Given the description of an element on the screen output the (x, y) to click on. 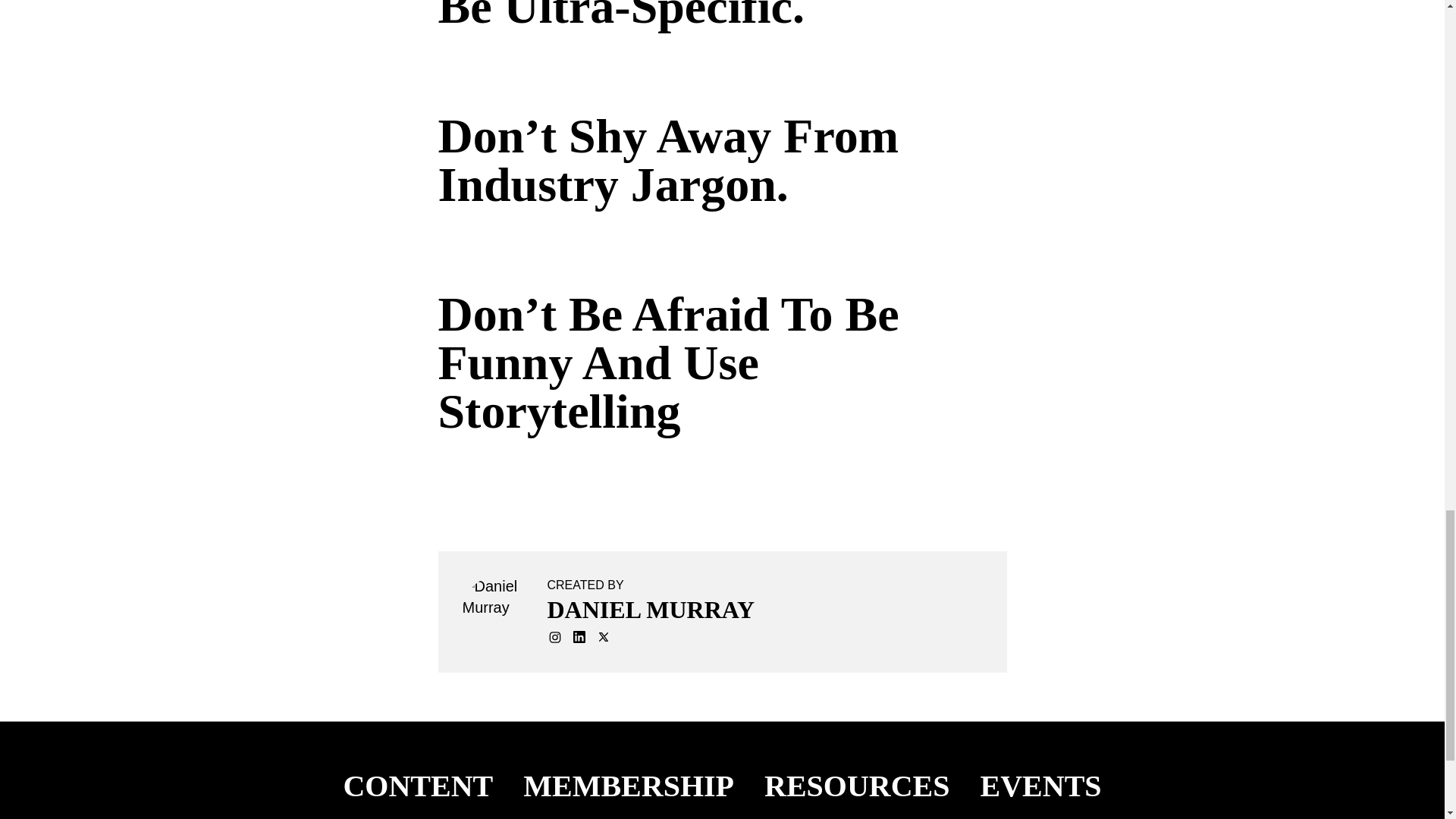
CONTENT (417, 786)
RESOURCES (857, 786)
EVENTS (1040, 786)
MEMBERSHIP (627, 786)
